Given the description of an element on the screen output the (x, y) to click on. 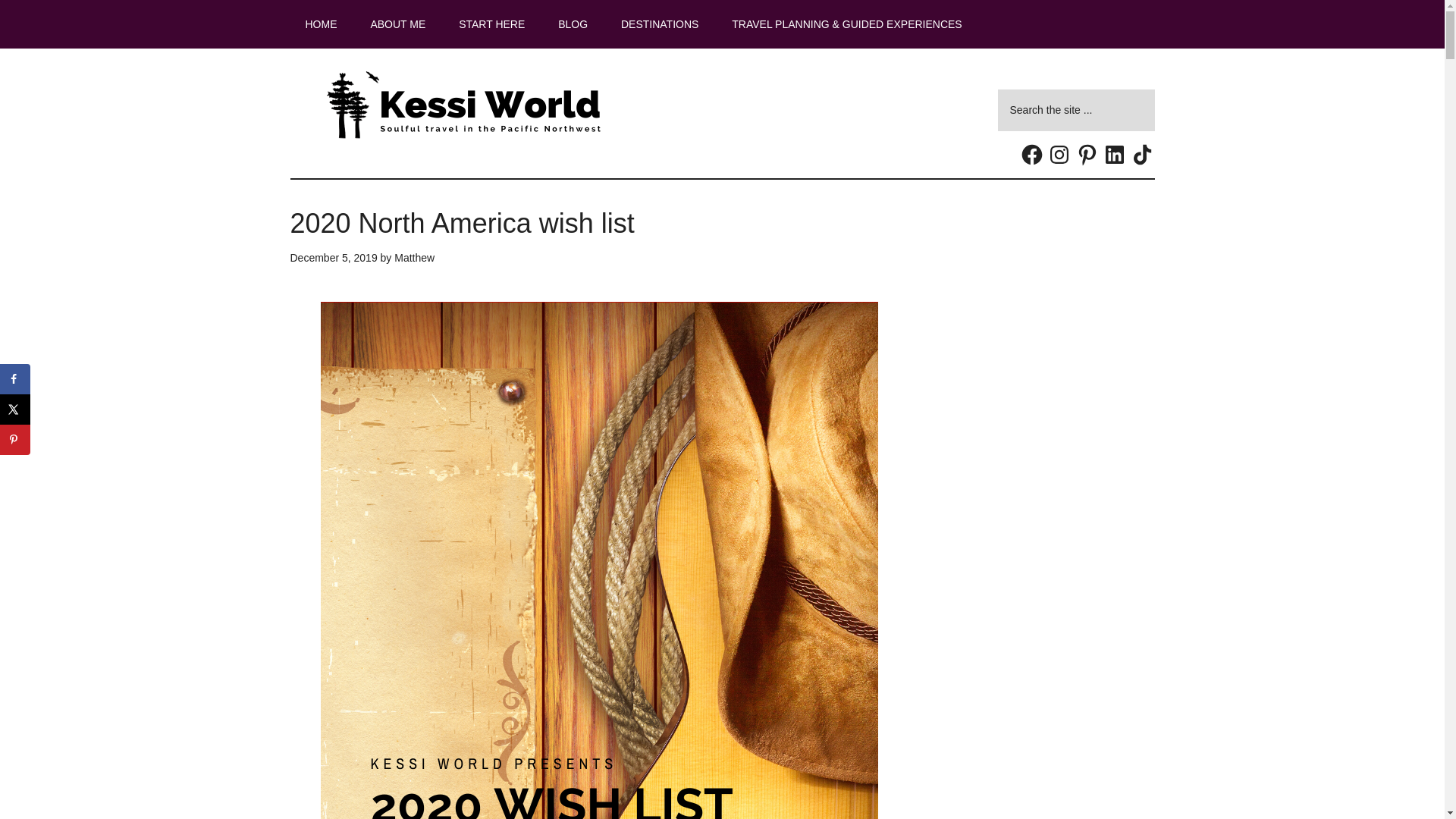
Kessi World (464, 105)
ABOUT ME (398, 24)
DESTINATIONS (659, 24)
Facebook (1031, 154)
Instagram (1058, 154)
Share on Facebook (15, 378)
BLOG (572, 24)
START HERE (492, 24)
Share on X (15, 409)
HOME (320, 24)
